Given the description of an element on the screen output the (x, y) to click on. 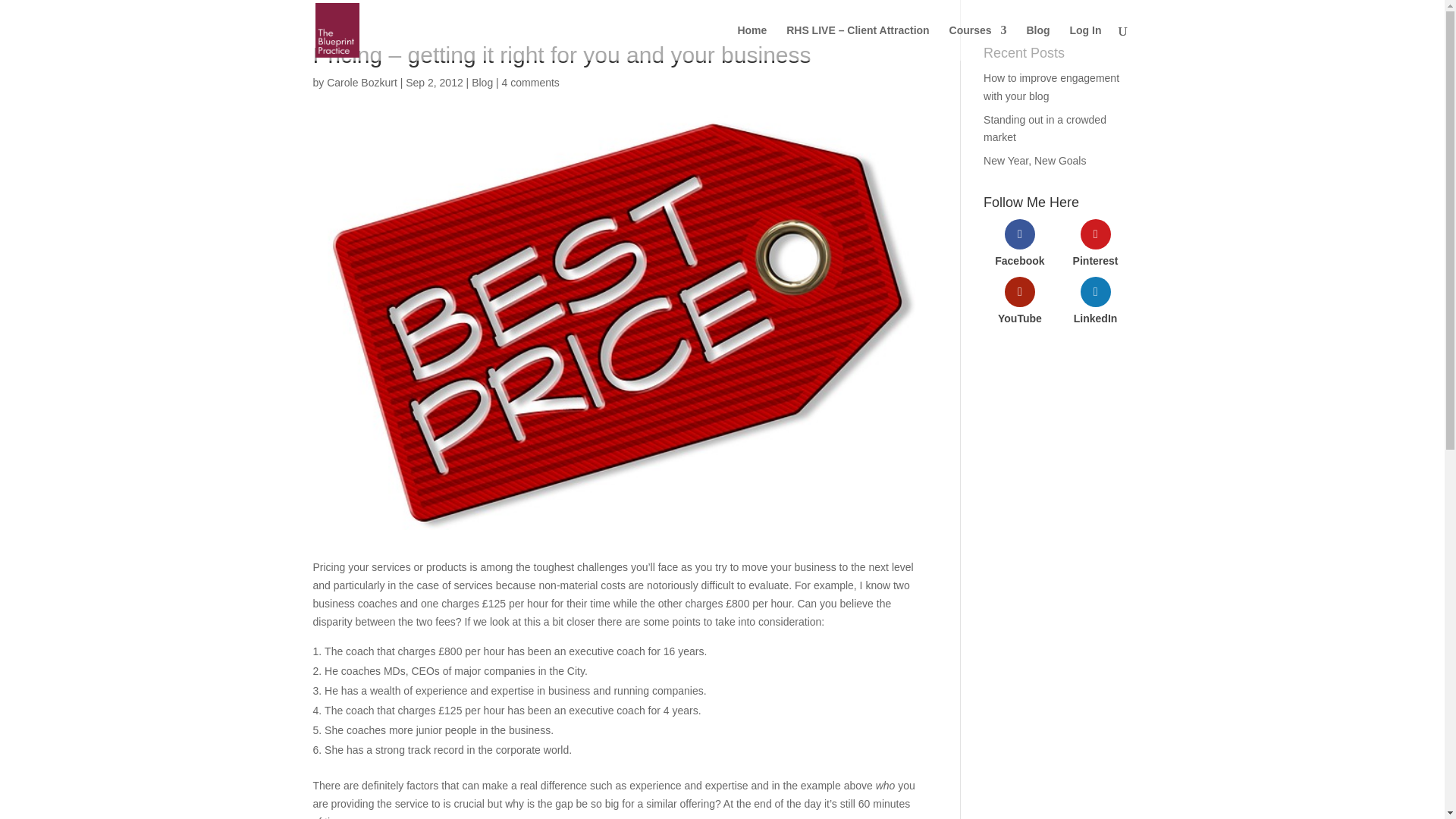
Pinterest (1095, 246)
How to improve engagement with your blog (1051, 87)
Facebook (1020, 246)
Blog (482, 82)
Posts by Carole Bozkurt (361, 82)
YouTube (1020, 303)
LinkedIn (1095, 303)
Carole Bozkurt (361, 82)
Log In (1084, 42)
New Year, New Goals (1035, 160)
